Given the description of an element on the screen output the (x, y) to click on. 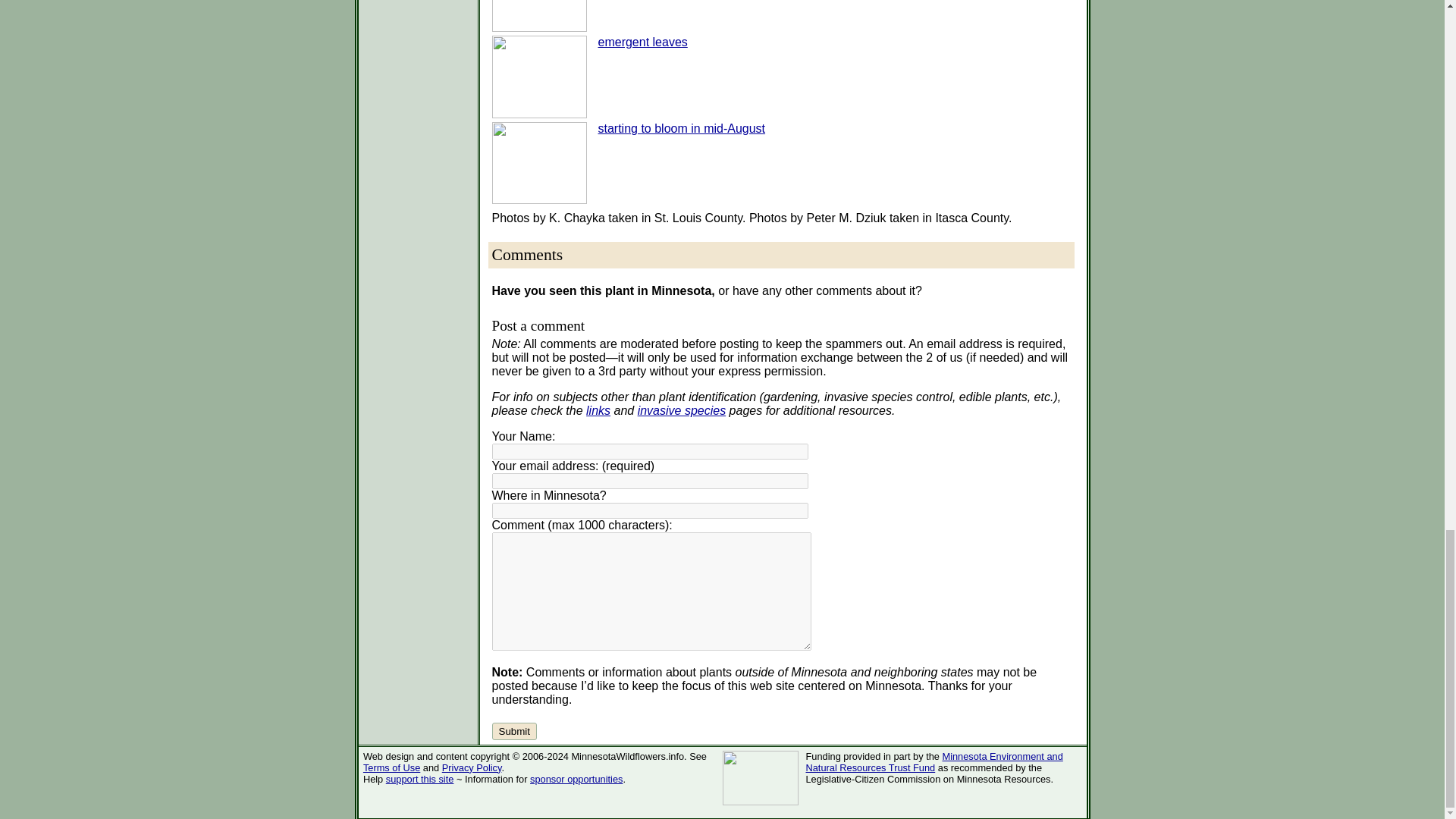
starting to bloom in mid-August (680, 128)
invasive species (681, 410)
links (598, 410)
emergent leaves (641, 42)
Submit (513, 731)
Submit (513, 731)
